Given the description of an element on the screen output the (x, y) to click on. 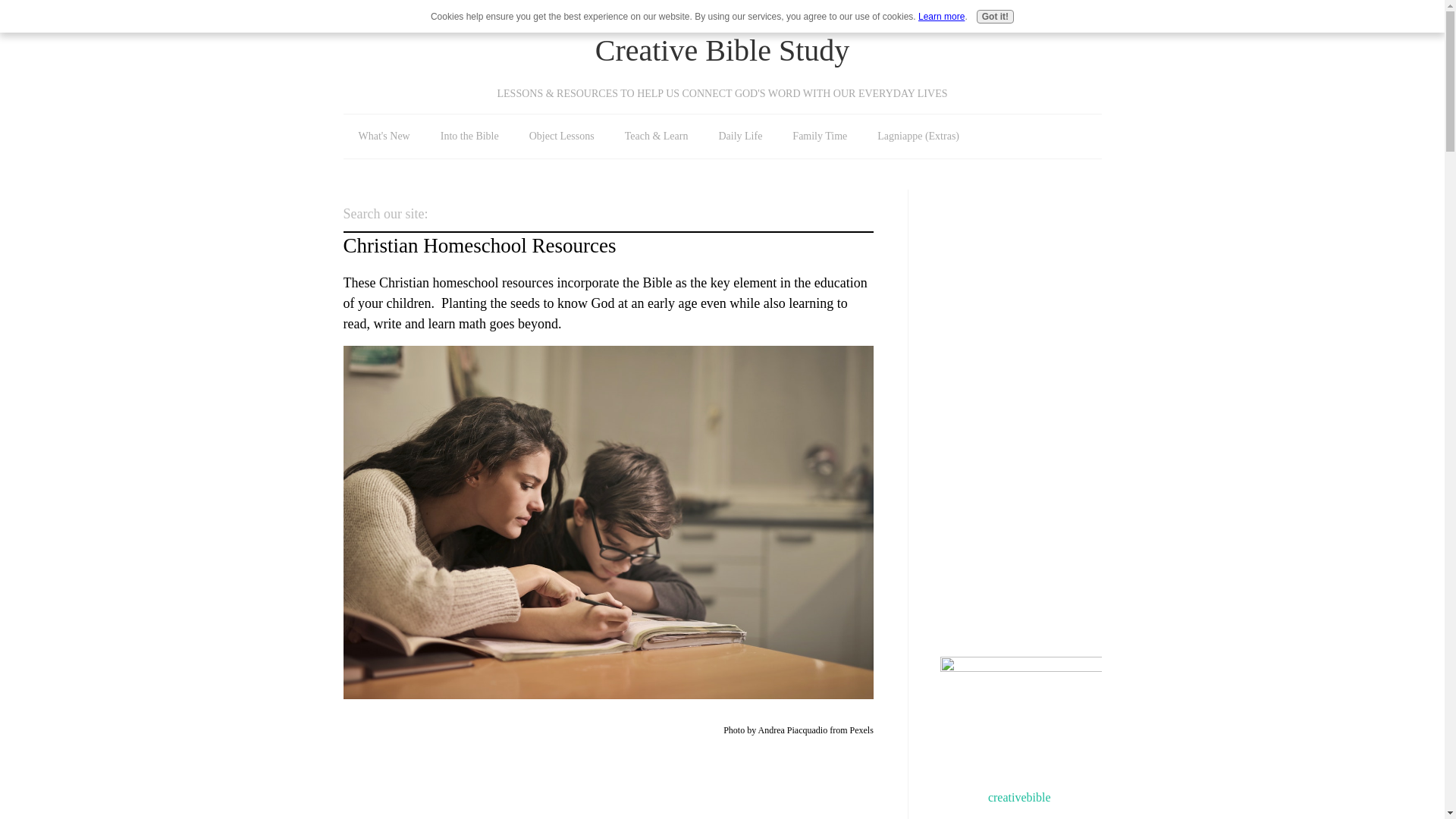
Creative Bible Study (722, 50)
